Given the description of an element on the screen output the (x, y) to click on. 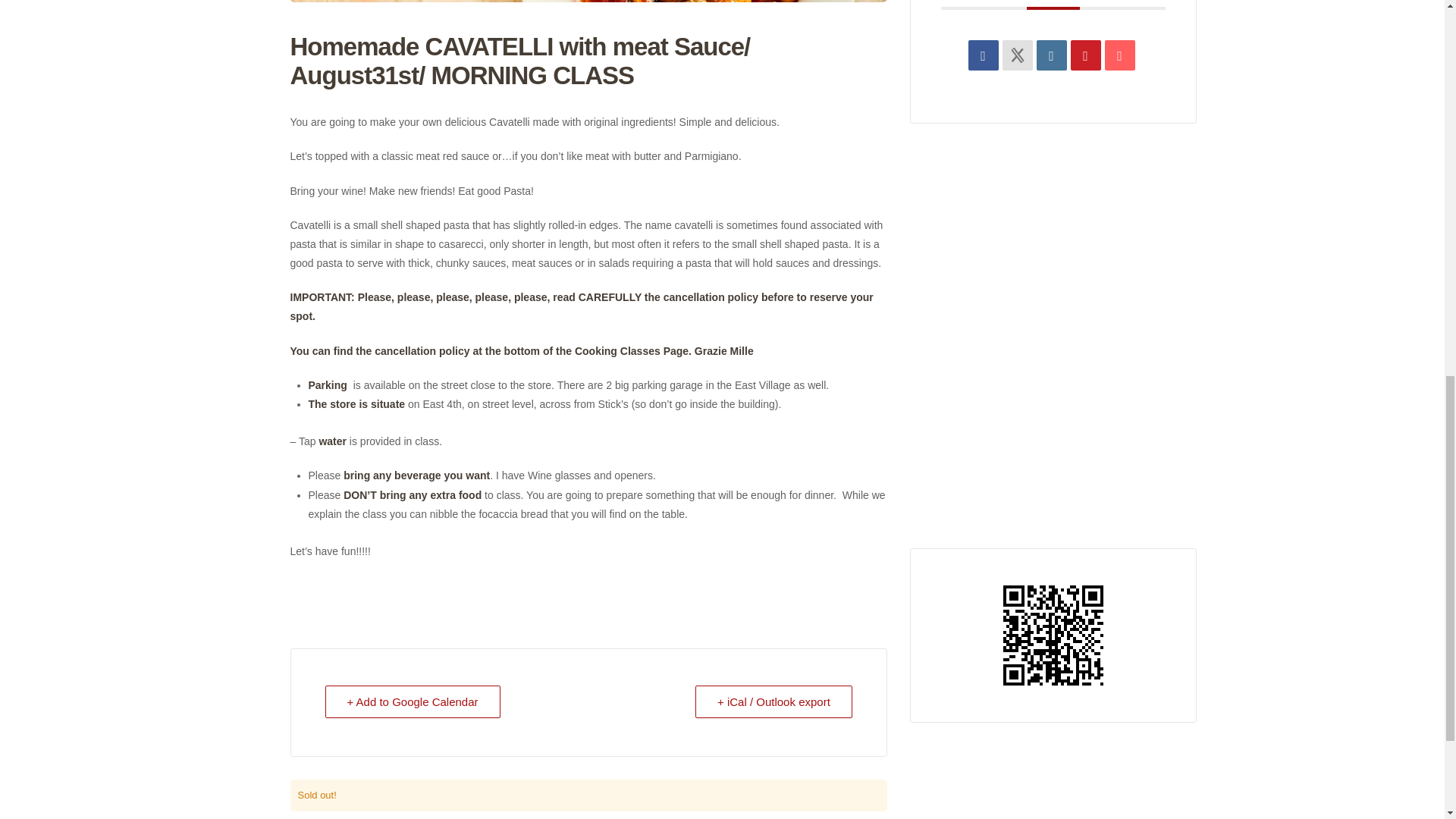
Share on Facebook (983, 54)
Email (1120, 54)
Linkedin (1051, 54)
Share on Pinterest (1085, 54)
X Social Network (1017, 54)
